Given the description of an element on the screen output the (x, y) to click on. 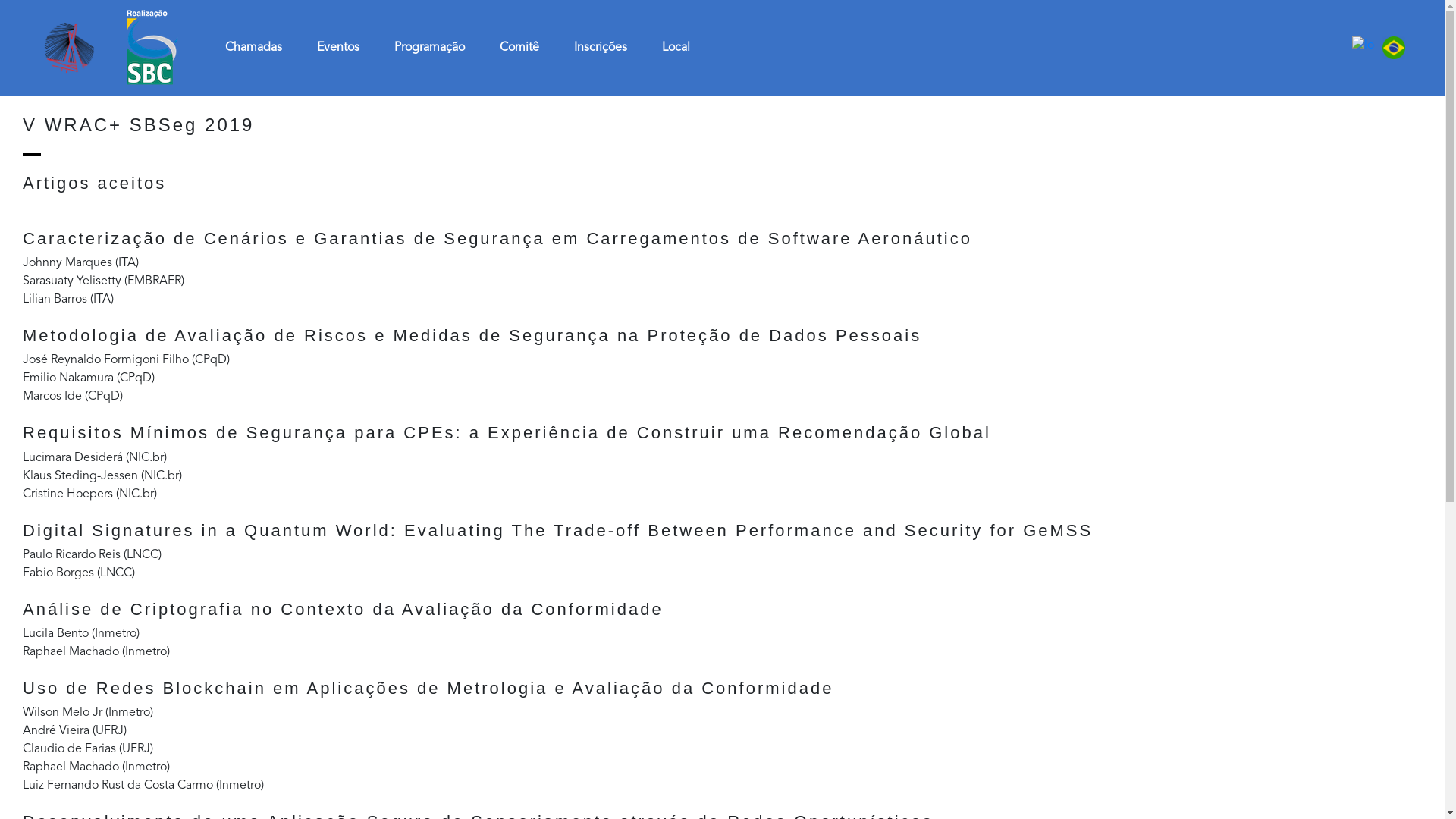
Local Element type: text (676, 47)
Chamadas Element type: text (253, 47)
Eventos Element type: text (337, 47)
